Given the description of an element on the screen output the (x, y) to click on. 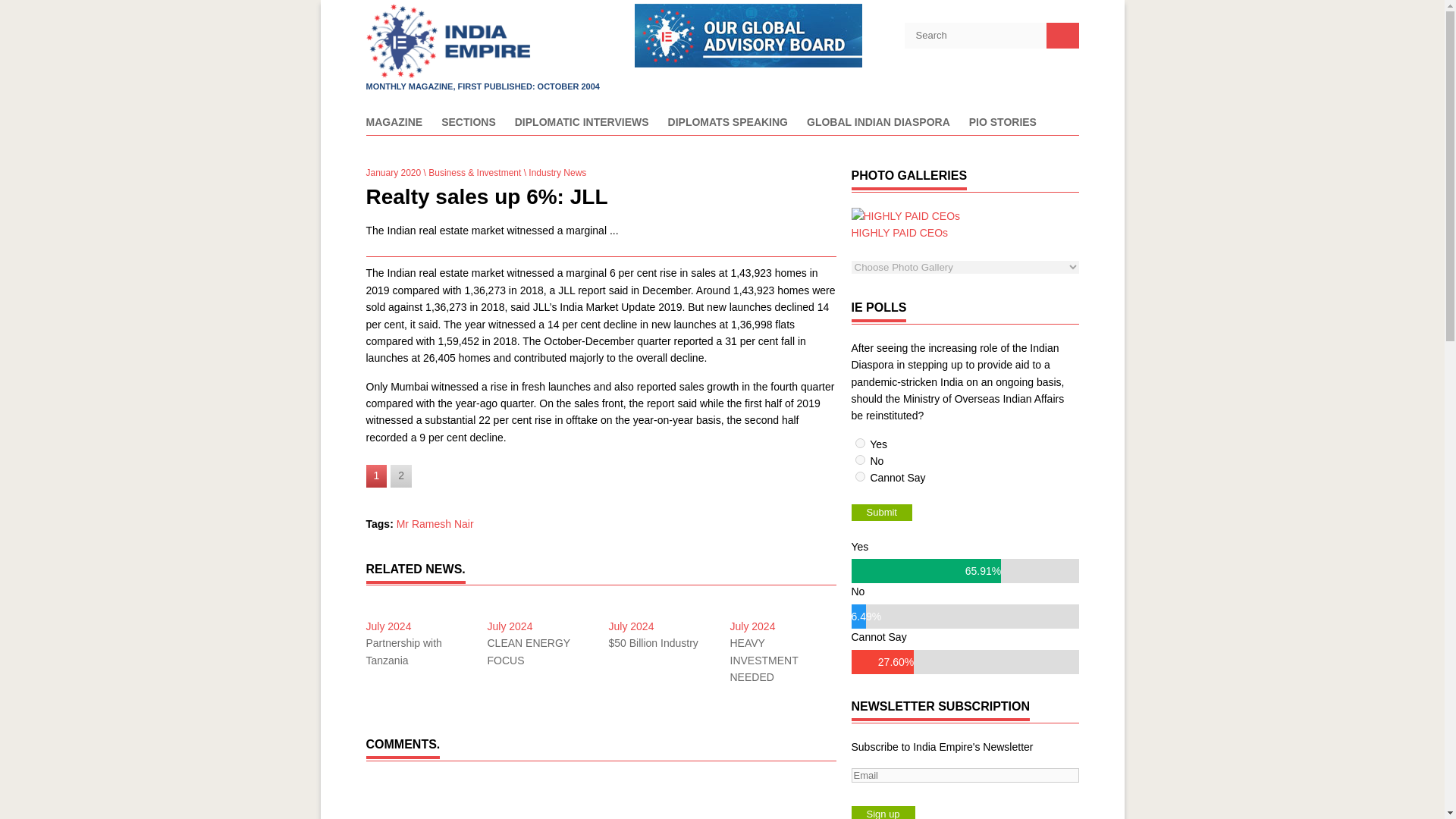
DIPLOMATIC INTERVIEWS (582, 126)
HIGHLY PAID CEOs (904, 224)
Submit (880, 512)
1 (860, 442)
2 (860, 460)
January 2020 (392, 172)
Partnership with Tanzania (418, 651)
MAGAZINE (393, 126)
SECTIONS (468, 126)
DIPLOMATS SPEAKING (727, 126)
HEAVY INVESTMENT NEEDED (782, 659)
GLOBAL INDIAN DIASPORA (878, 126)
CLEAN ENERGY FOCUS (539, 651)
2 (401, 475)
Mr Ramesh Nair (435, 523)
